Given the description of an element on the screen output the (x, y) to click on. 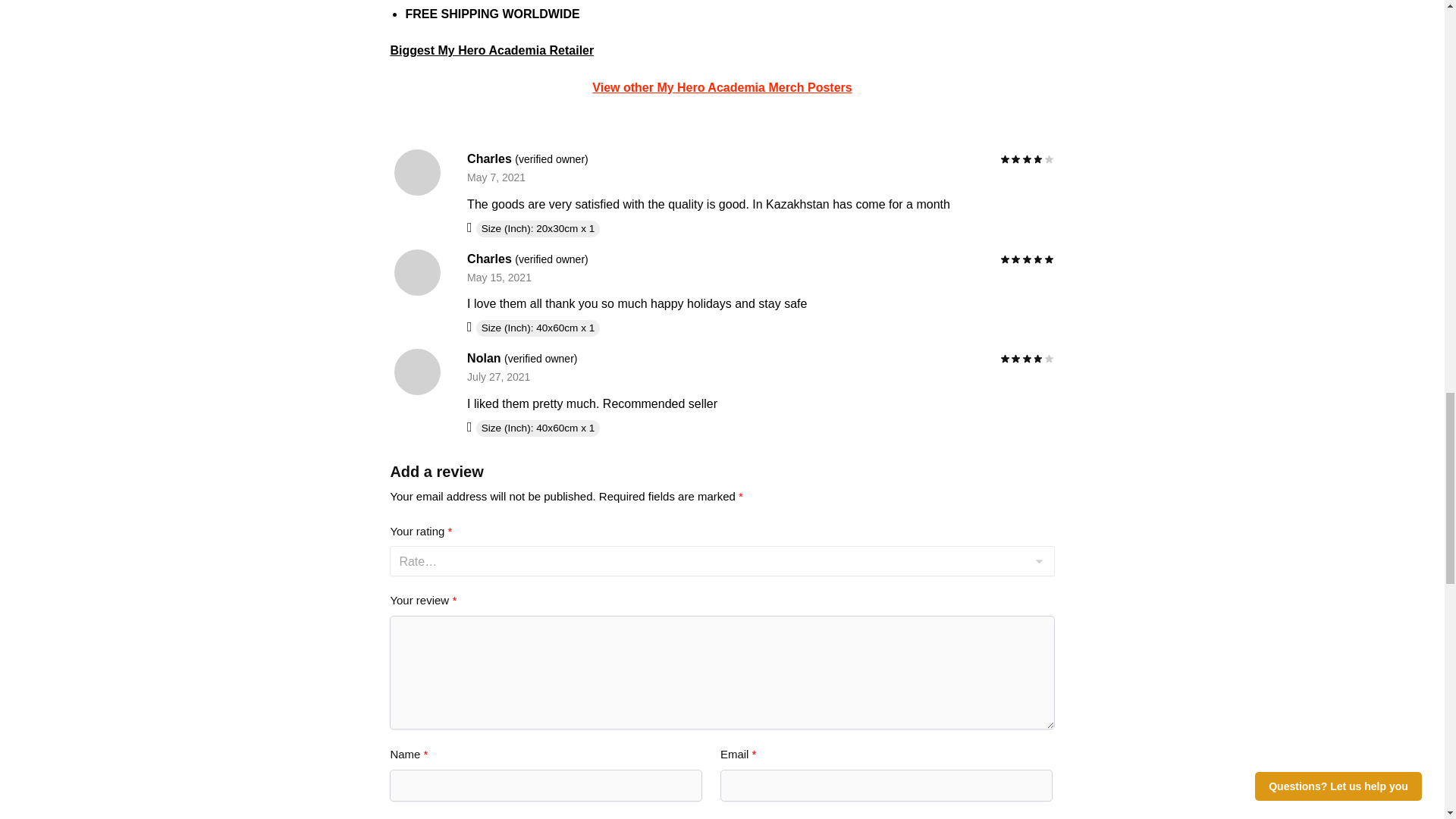
mha poster (721, 87)
